Given the description of an element on the screen output the (x, y) to click on. 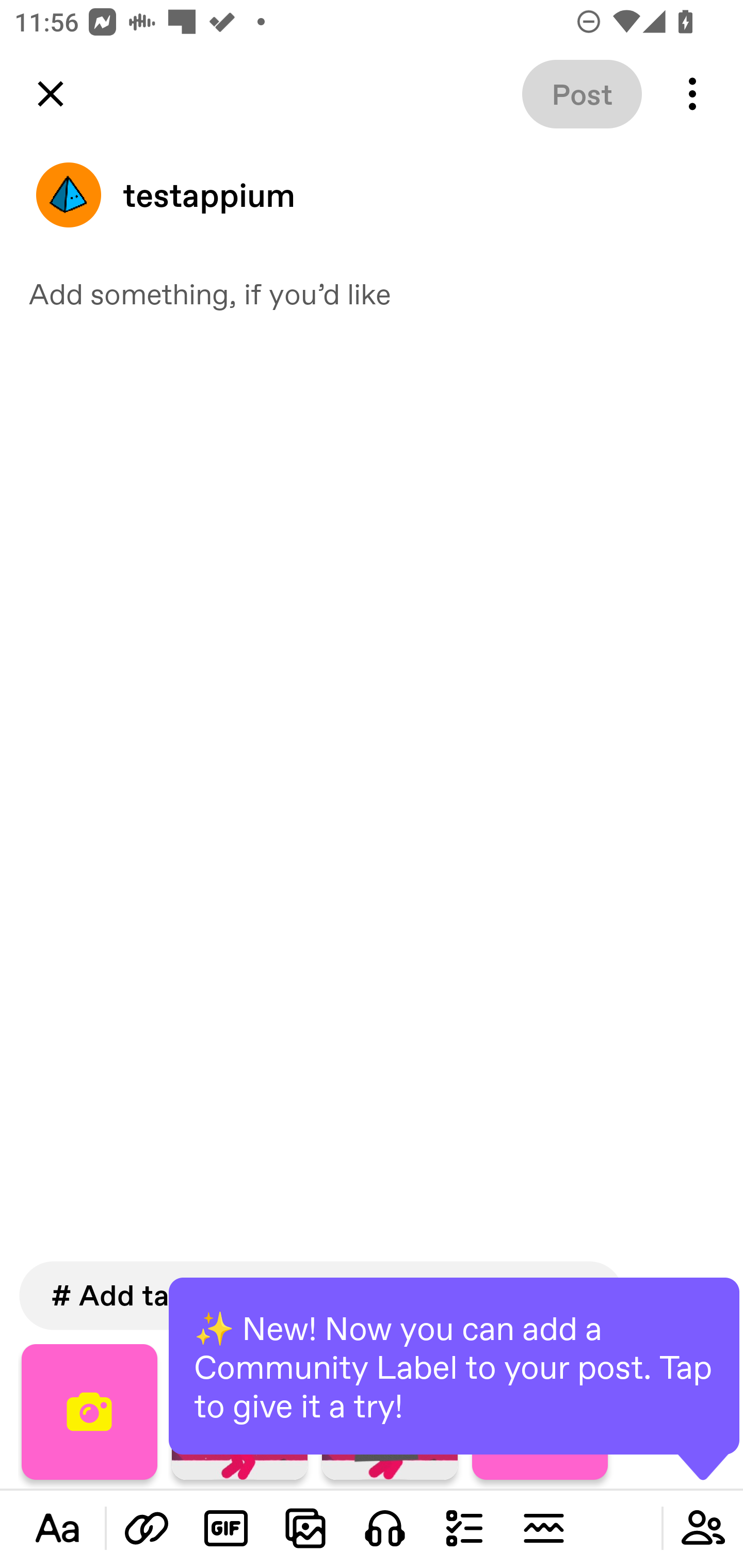
Navigate up (50, 93)
Post (581, 93)
Blog Selector testappium (371, 195)
Add something, if you’d like (371, 293)
Add text to post (57, 1528)
Add text to post (146, 1528)
Add GIF to post (225, 1528)
Add Photo to post (305, 1528)
Add Audio to post (384, 1528)
Add Poll to post (463, 1528)
Add read-more link to post (543, 1528)
Add community label for post (703, 1528)
